Given the description of an element on the screen output the (x, y) to click on. 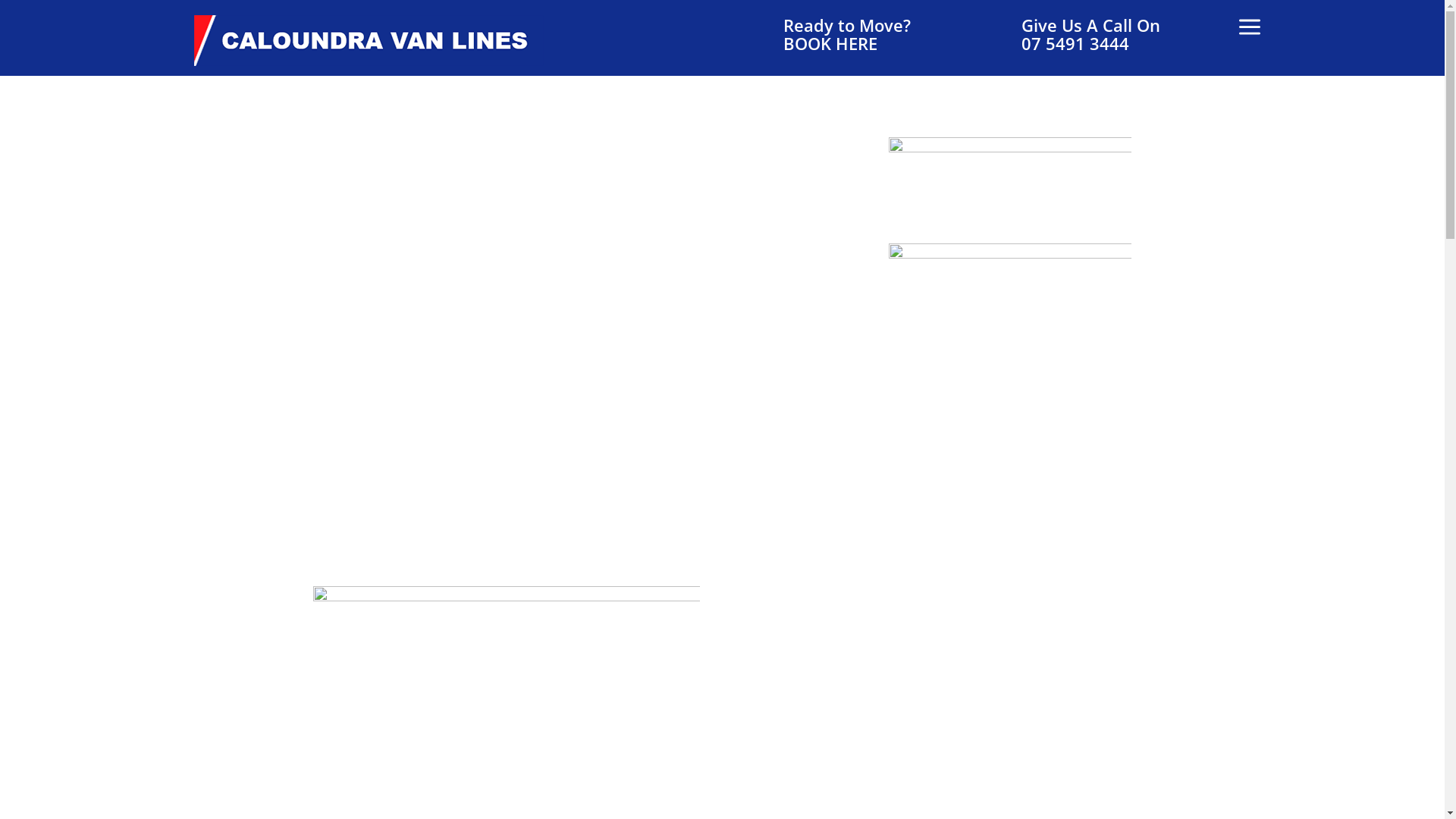
Call Button Element type: hover (1009, 178)
Quote Button Element type: hover (1009, 284)
caloundra-van-lines-sunshine-coast-removalists-logo Element type: hover (368, 44)
